Given the description of an element on the screen output the (x, y) to click on. 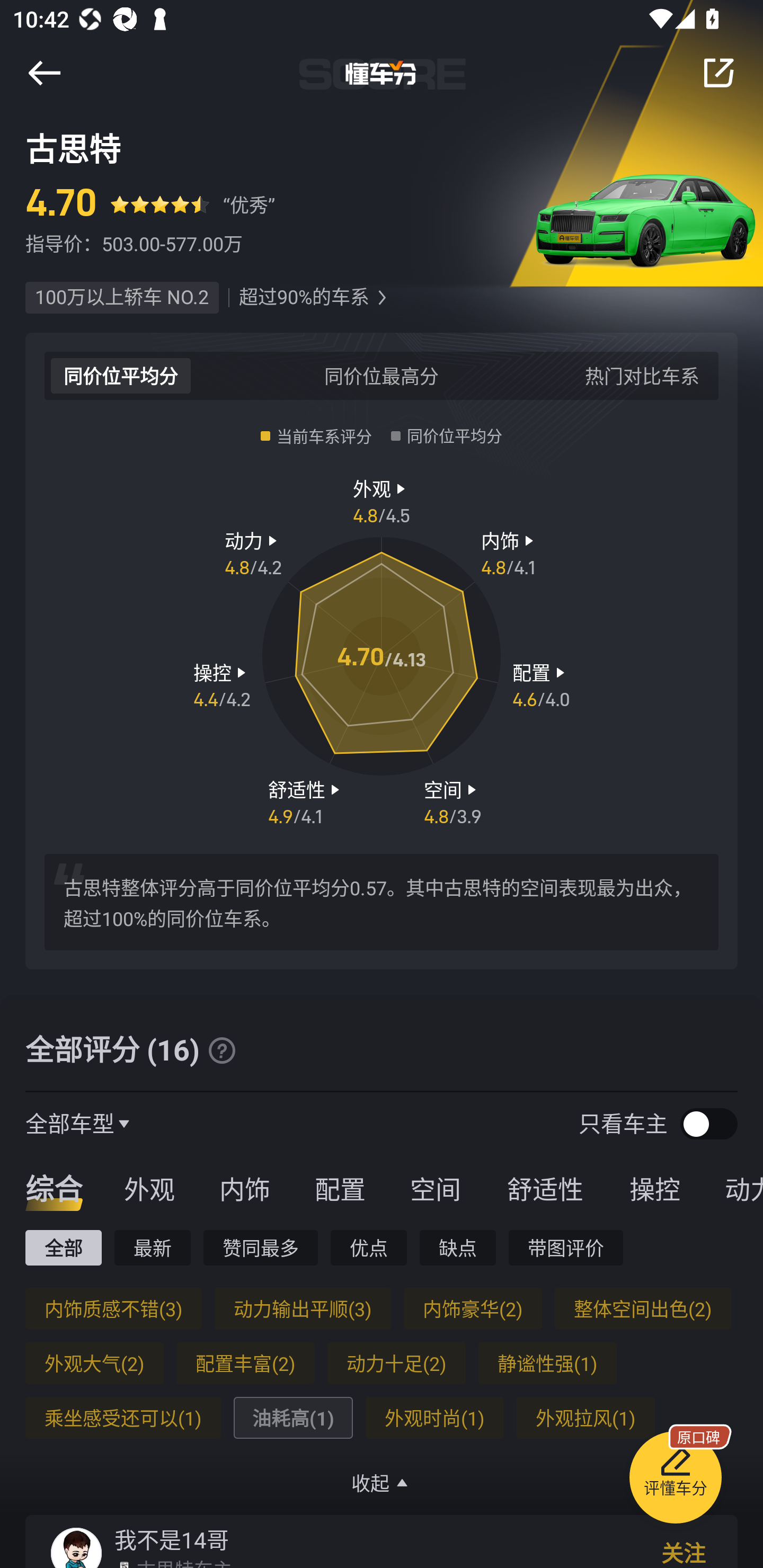
 (44, 72)
 (718, 72)
超过90%的车系 (303, 297)
 (381, 297)
同价位平均分 (120, 375)
同价位最高分 (381, 375)
热门对比车系 (641, 375)
外观  4.8 / 4.5 (381, 500)
动力  4.8 / 4.2 (252, 552)
内饰  4.8 / 4.1 (509, 552)
操控  4.4 / 4.2 (221, 685)
配置  4.6 / 4.0 (540, 685)
舒适性  4.9 / 4.1 (305, 801)
空间  4.8 / 3.9 (452, 801)
 (222, 1050)
全部车型 (69, 1123)
外观 (148, 1188)
内饰 (244, 1188)
配置 (339, 1188)
空间 (434, 1188)
舒适性 (544, 1188)
操控 (654, 1188)
全部 (63, 1247)
最新 (152, 1247)
赞同最多 (260, 1247)
优点 (368, 1247)
缺点 (457, 1247)
带图评价 (565, 1247)
内饰质感不错(3) (113, 1308)
动力输出平顺(3) (302, 1308)
内饰豪华(2) (472, 1308)
整体空间出色(2) (642, 1308)
外观大气(2) (94, 1363)
配置丰富(2) (245, 1363)
动力十足(2) (396, 1363)
静谧性强(1) (547, 1363)
乘坐感受还可以(1) (123, 1418)
油耗高(1) (292, 1418)
外观时尚(1) (434, 1418)
外观拉风(1) (585, 1418)
 评懂车分 原口碑 (675, 1480)
收起  (381, 1482)
我不是14哥 (171, 1539)
关注 (683, 1550)
